Given the description of an element on the screen output the (x, y) to click on. 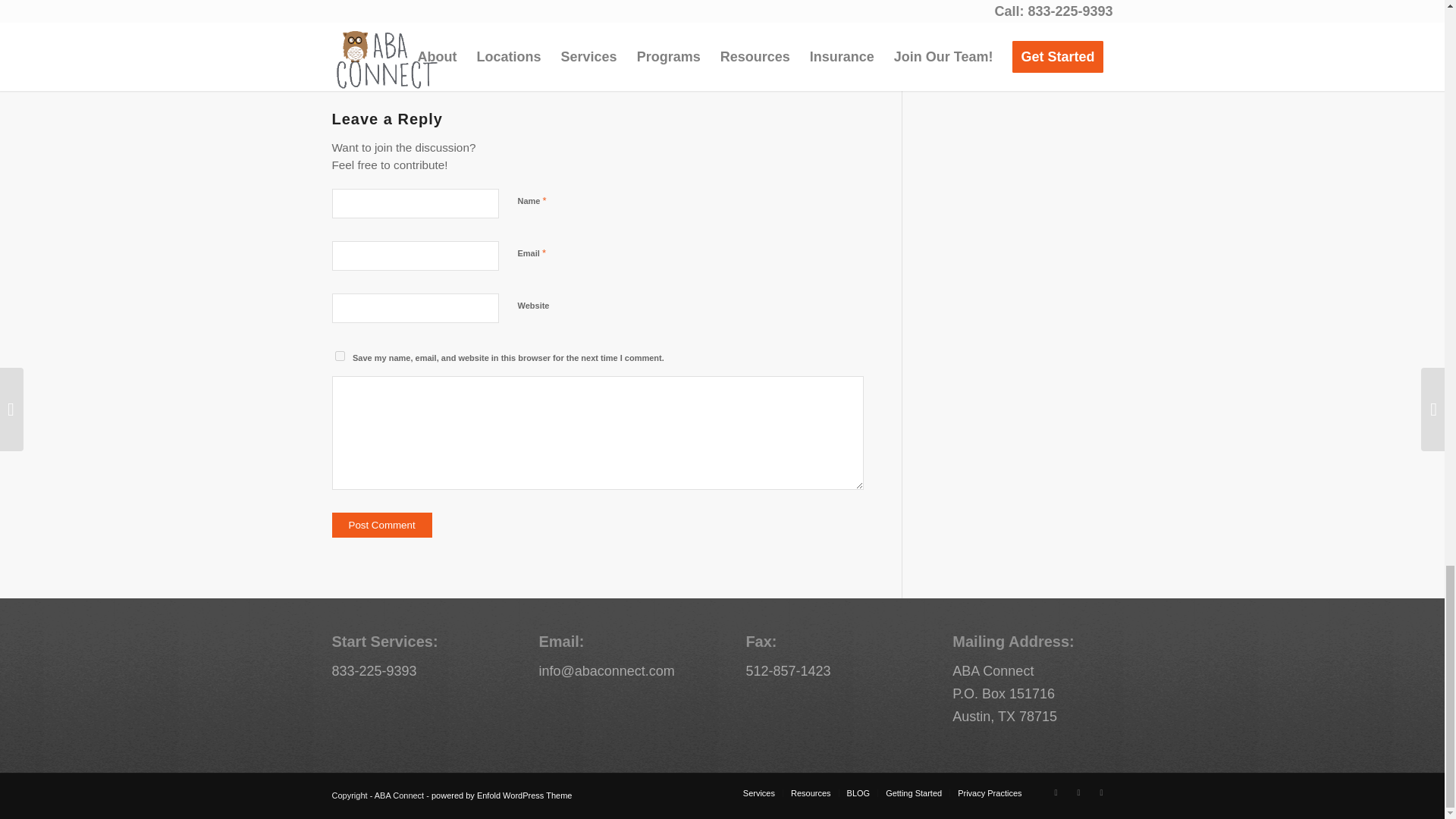
yes (339, 356)
Post Comment (381, 524)
